Given the description of an element on the screen output the (x, y) to click on. 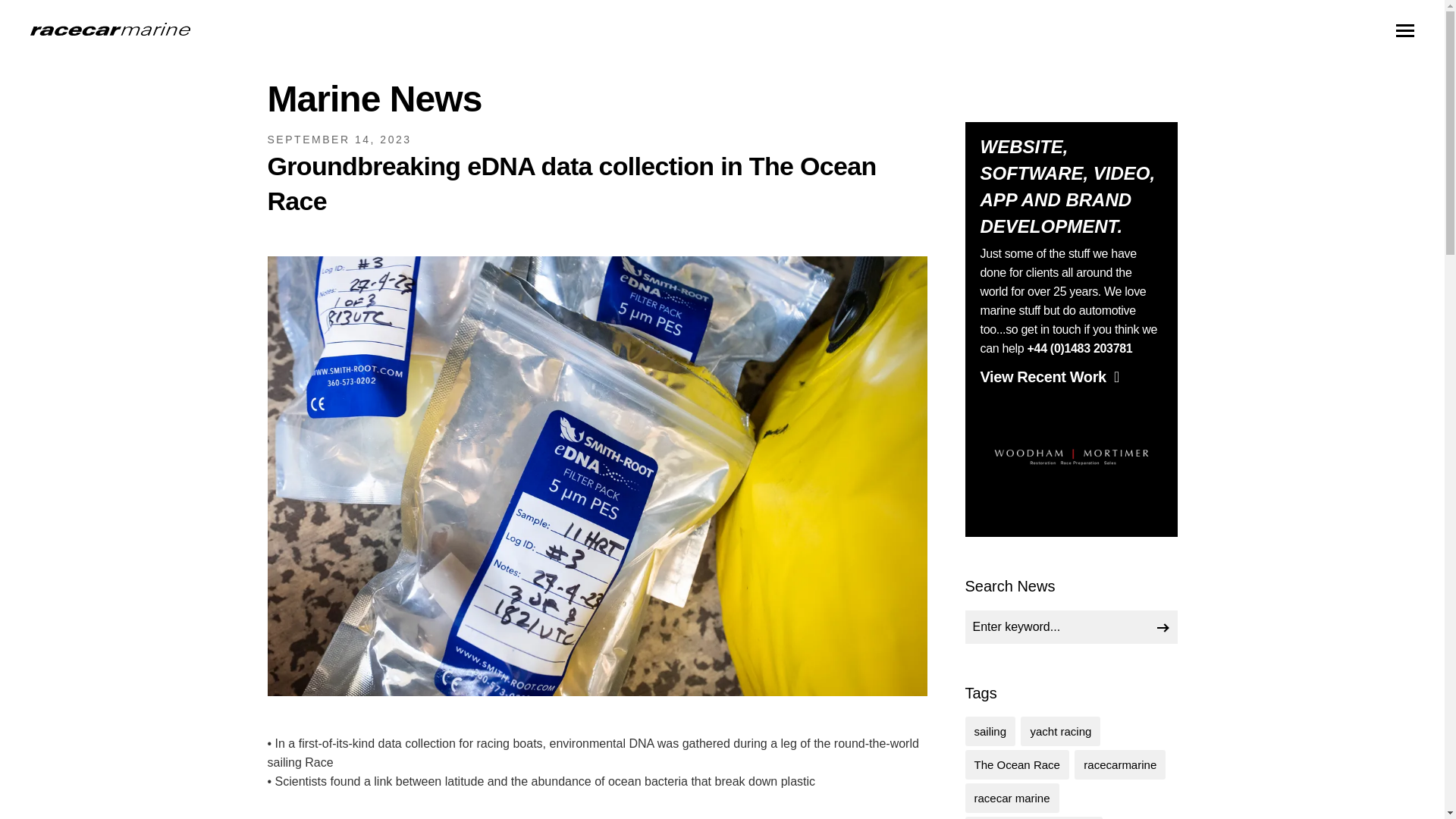
View Recent Work   (1048, 376)
